Given the description of an element on the screen output the (x, y) to click on. 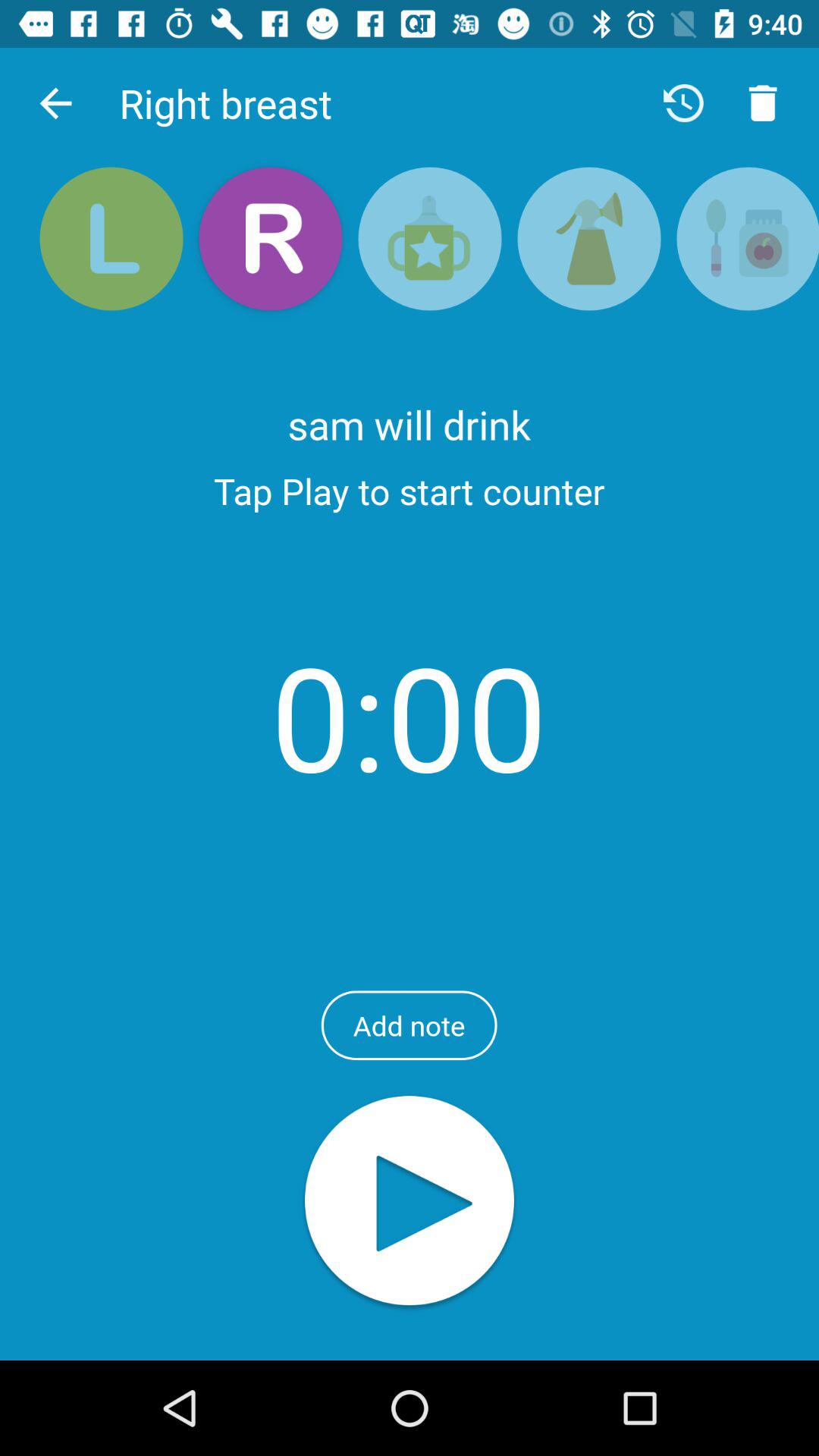
press the item below the tap play to (408, 715)
